Given the description of an element on the screen output the (x, y) to click on. 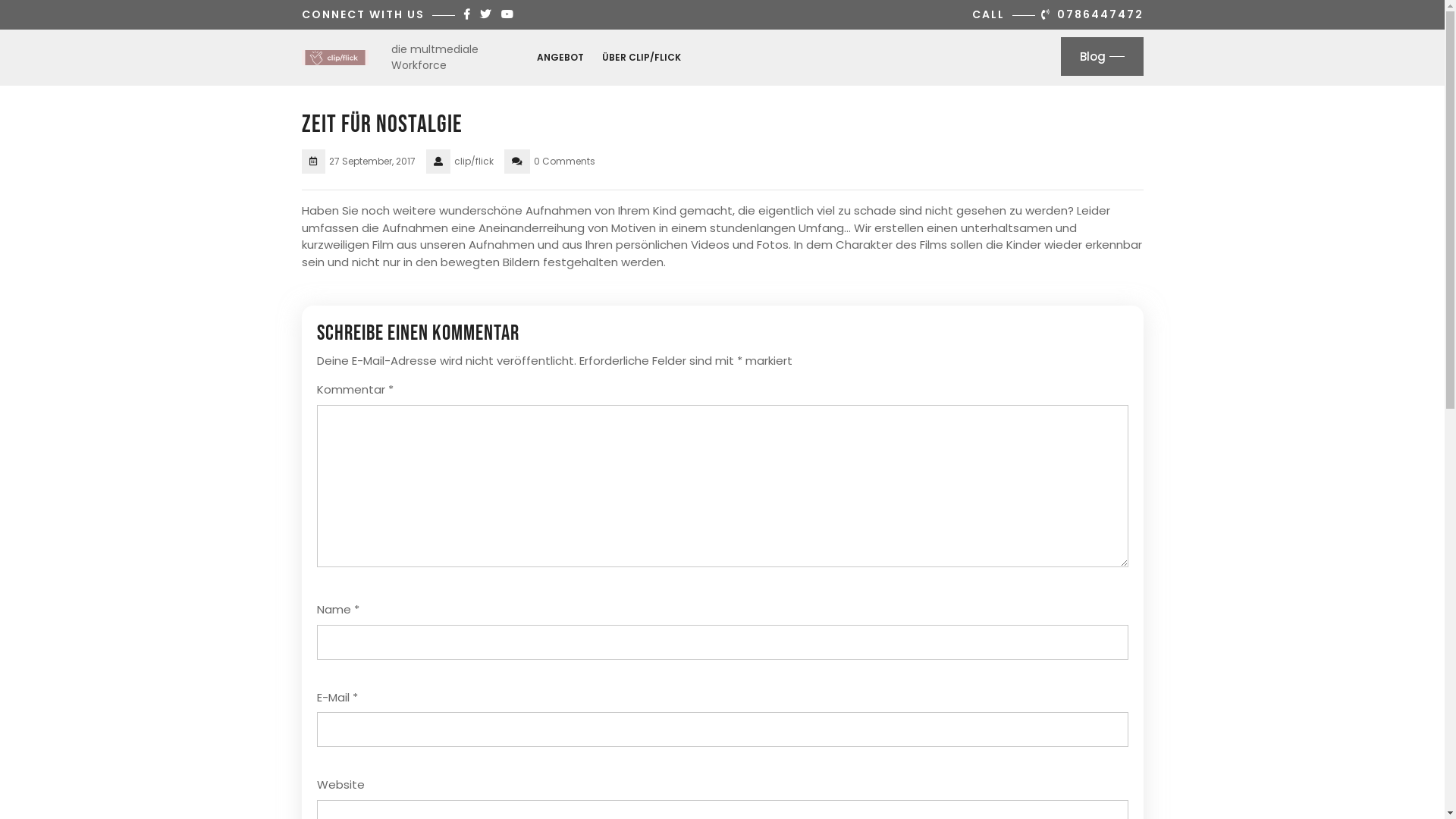
Blog Element type: text (1101, 56)
ANGEBOT Element type: text (559, 56)
